Given the description of an element on the screen output the (x, y) to click on. 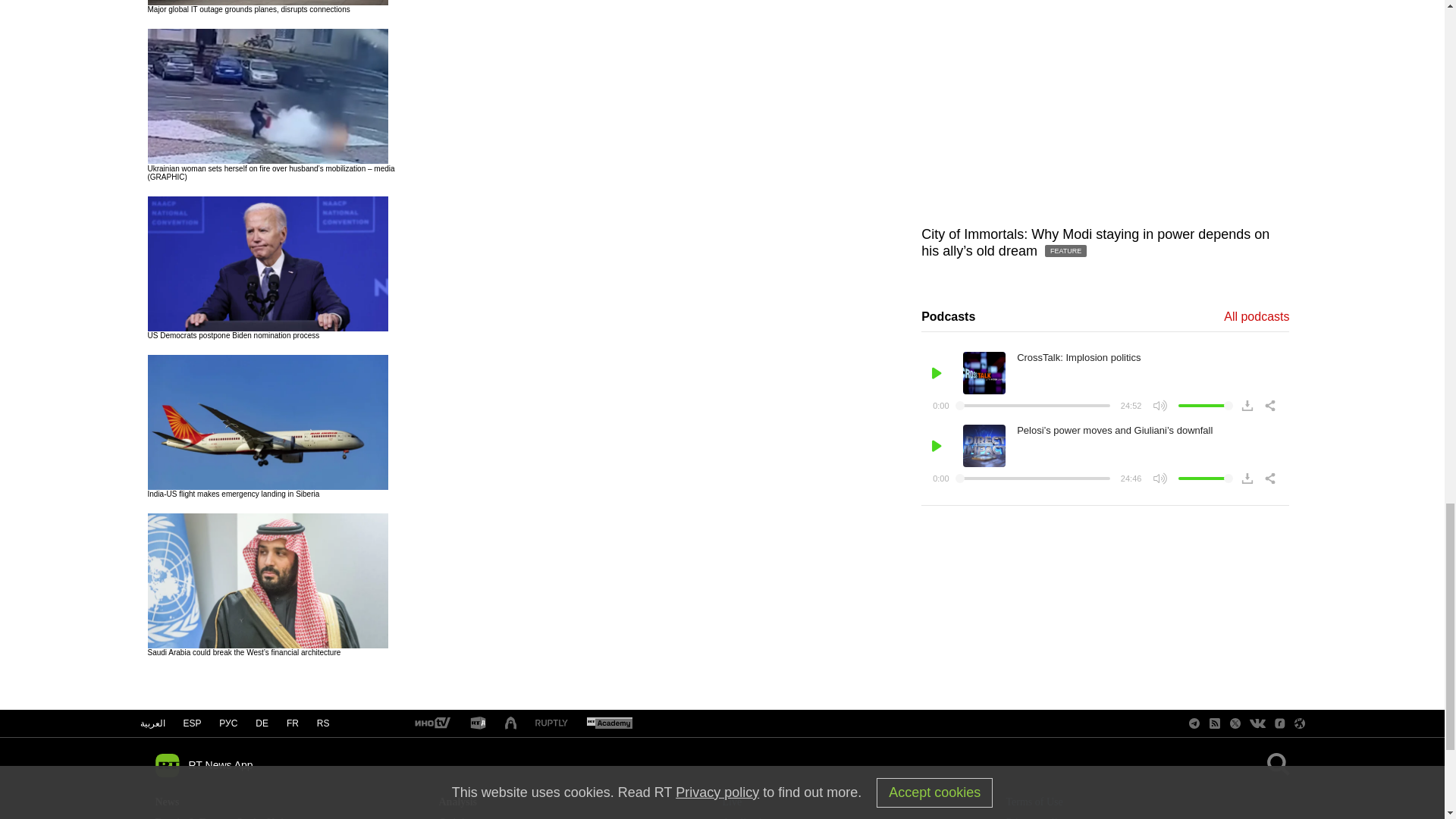
RT  (608, 723)
RT  (431, 723)
RT  (478, 723)
RT  (551, 723)
